Given the description of an element on the screen output the (x, y) to click on. 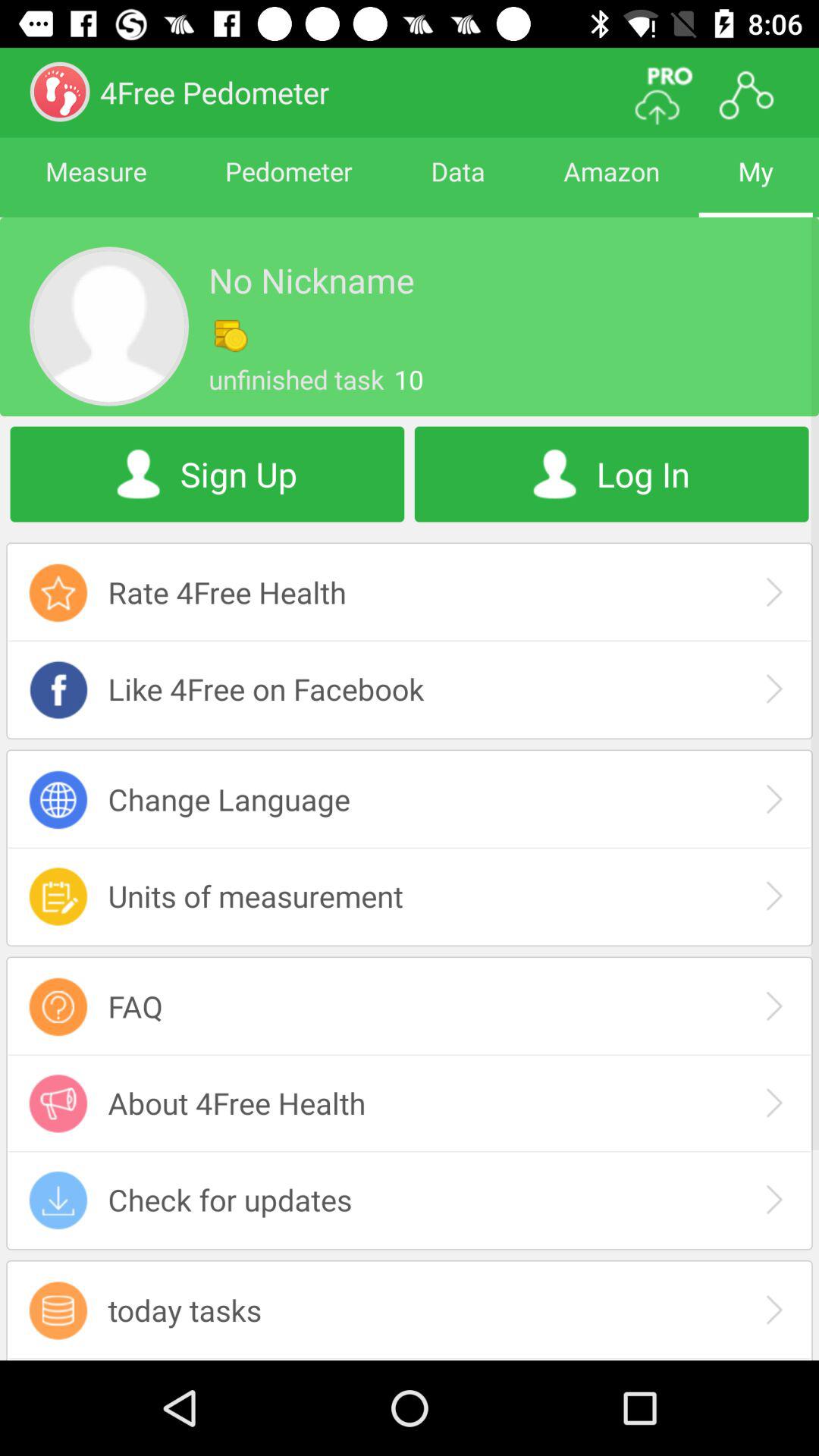
press app to the right of the data icon (611, 185)
